Given the description of an element on the screen output the (x, y) to click on. 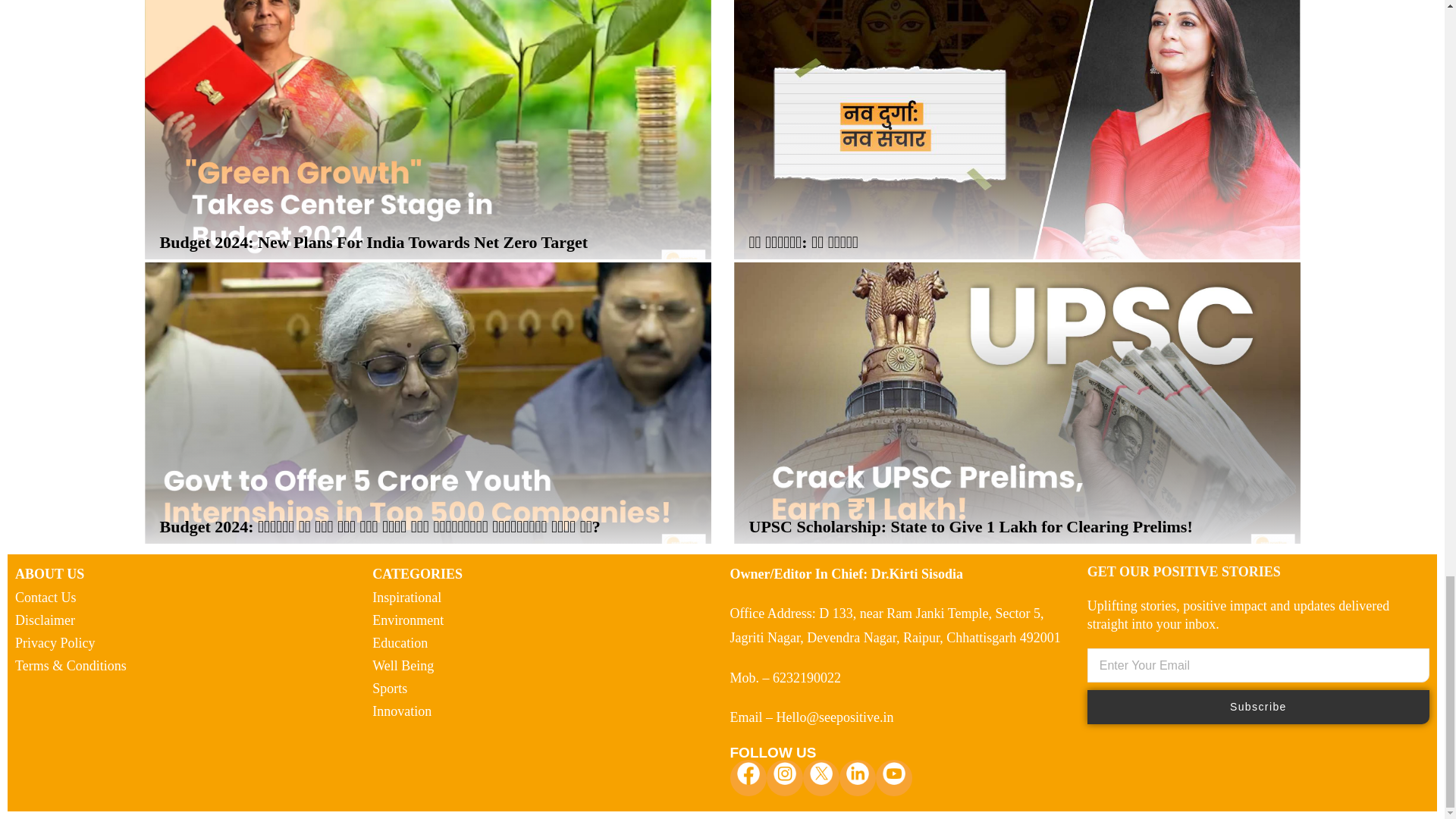
Page 1 (1254, 615)
Page 1 (185, 573)
Page 1 (543, 573)
